Given the description of an element on the screen output the (x, y) to click on. 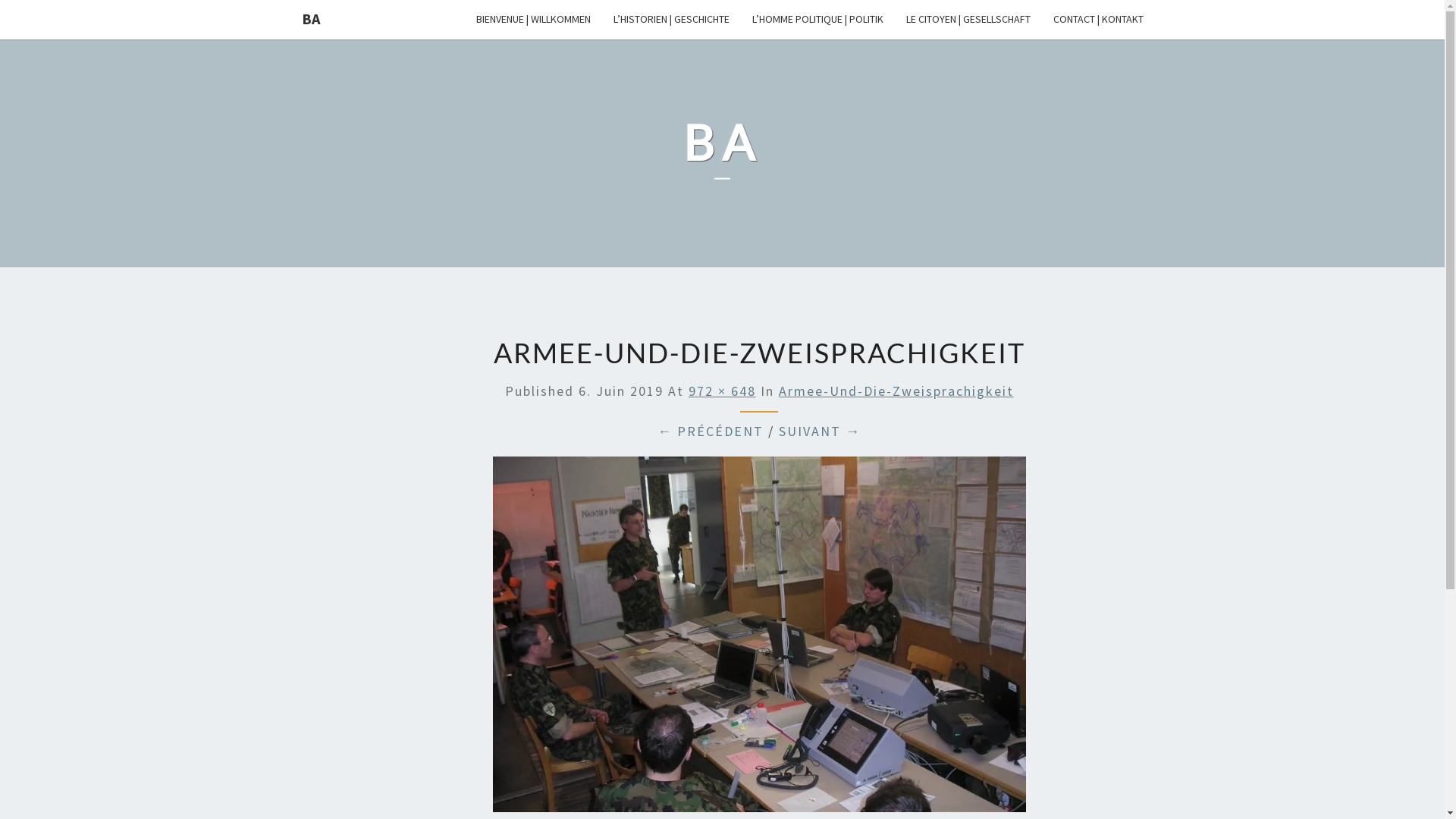
BA Element type: text (721, 152)
Armee-Und-Die-Zweisprachigkeit Element type: text (895, 390)
LE CITOYEN | GESELLSCHAFT Element type: text (967, 19)
CONTACT | KONTAKT Element type: text (1097, 19)
BIENVENUE | WILLKOMMEN Element type: text (532, 19)
armee-und-die-zweisprachigkeit Element type: hover (759, 639)
BA Element type: text (309, 18)
